Given the description of an element on the screen output the (x, y) to click on. 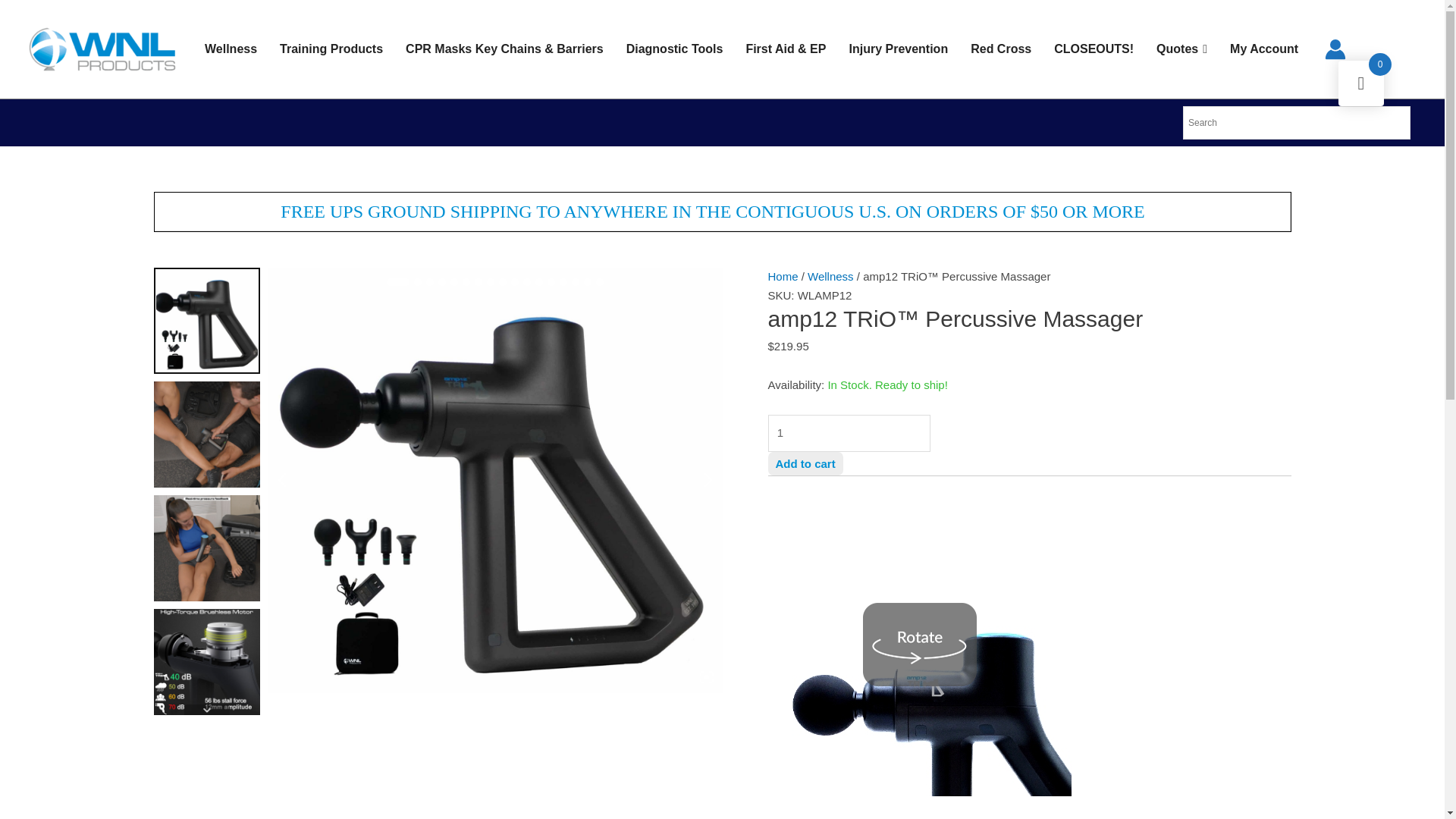
Wellness (230, 49)
Diagnostic Tools (674, 49)
Training Products (330, 49)
Quotes (1181, 49)
My Account (1263, 49)
1 (848, 433)
Red Cross (1000, 49)
CLOSEOUTS! (1093, 49)
Injury Prevention (898, 49)
